Given the description of an element on the screen output the (x, y) to click on. 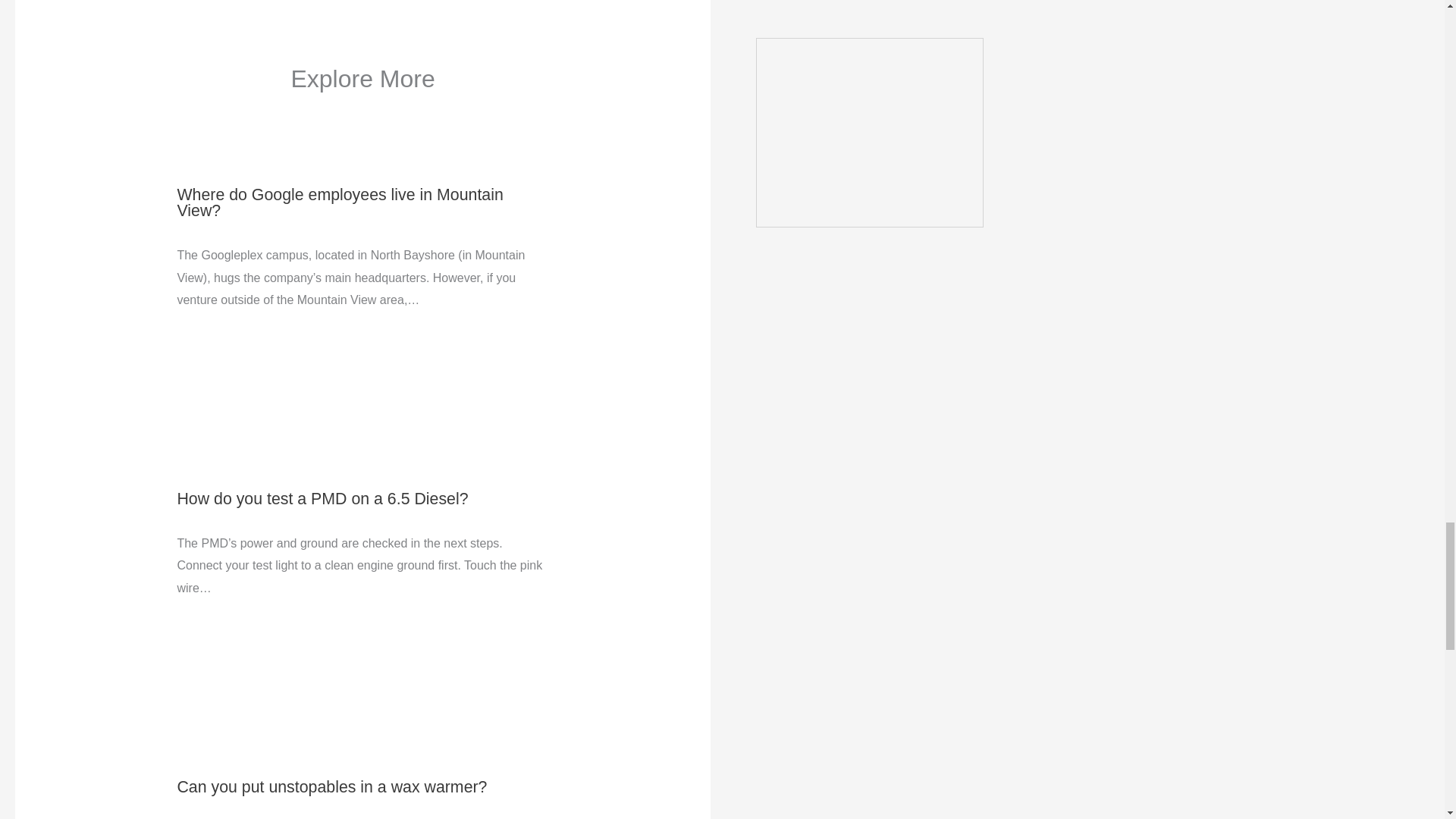
Can you put unstopables in a wax warmer? (331, 787)
How do you test a PMD on a 6.5 Diesel? (321, 498)
Where do Google employees live in Mountain View? (339, 202)
